Given the description of an element on the screen output the (x, y) to click on. 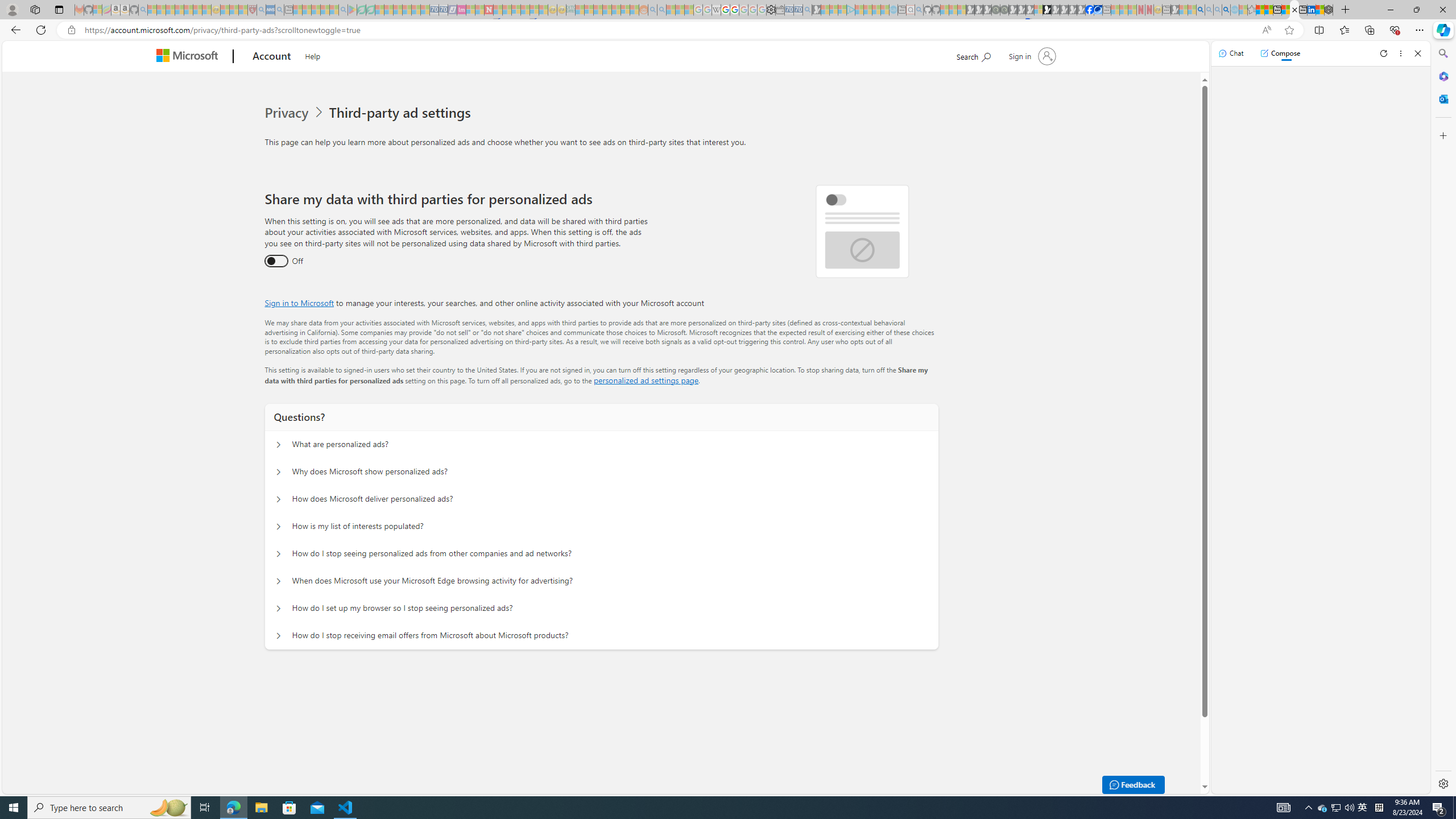
Third-party ad settings (402, 112)
